Given the description of an element on the screen output the (x, y) to click on. 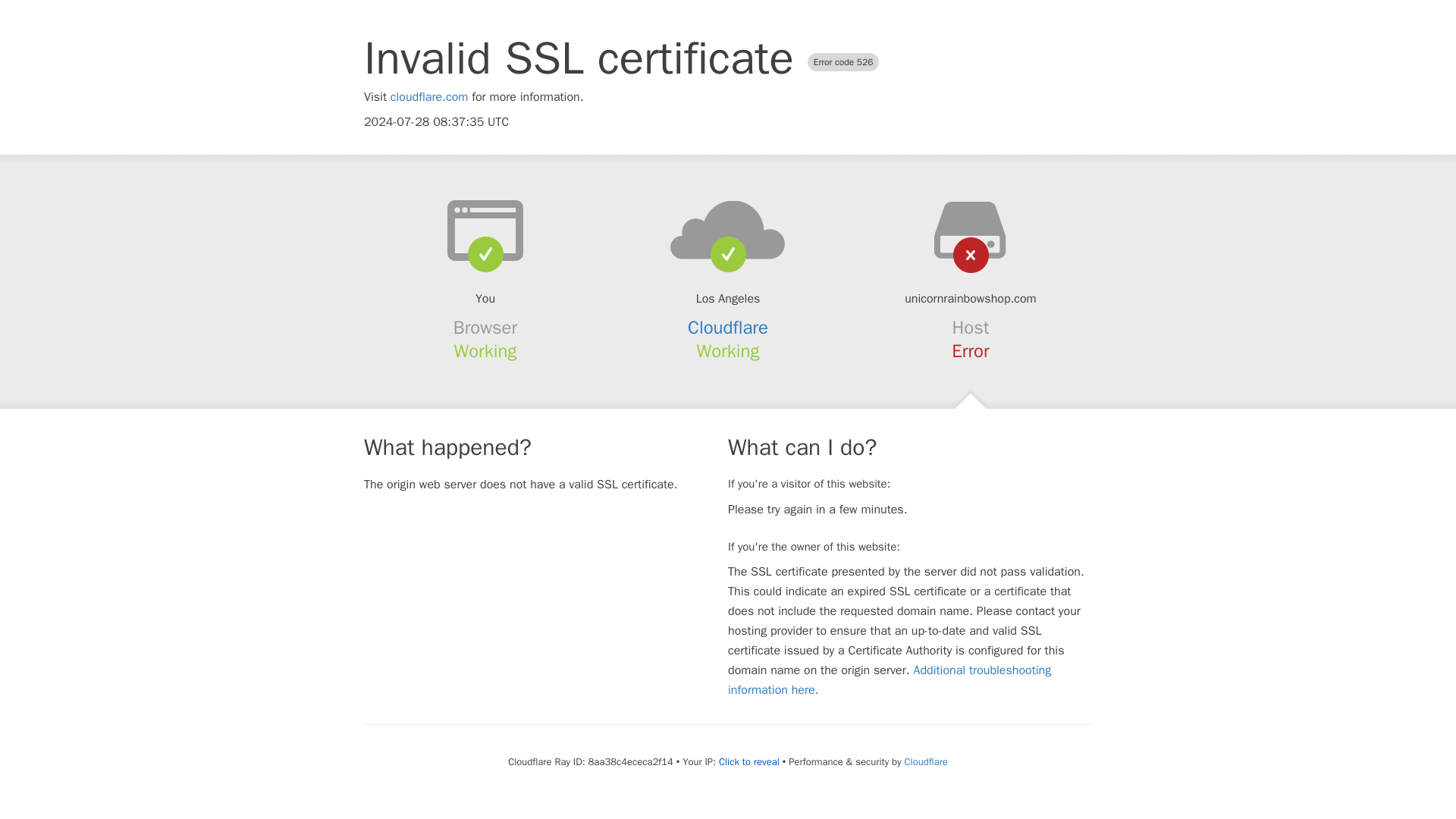
Cloudflare (727, 327)
Cloudflare (925, 761)
Additional troubleshooting information here. (889, 679)
Click to reveal (748, 762)
cloudflare.com (429, 96)
